Given the description of an element on the screen output the (x, y) to click on. 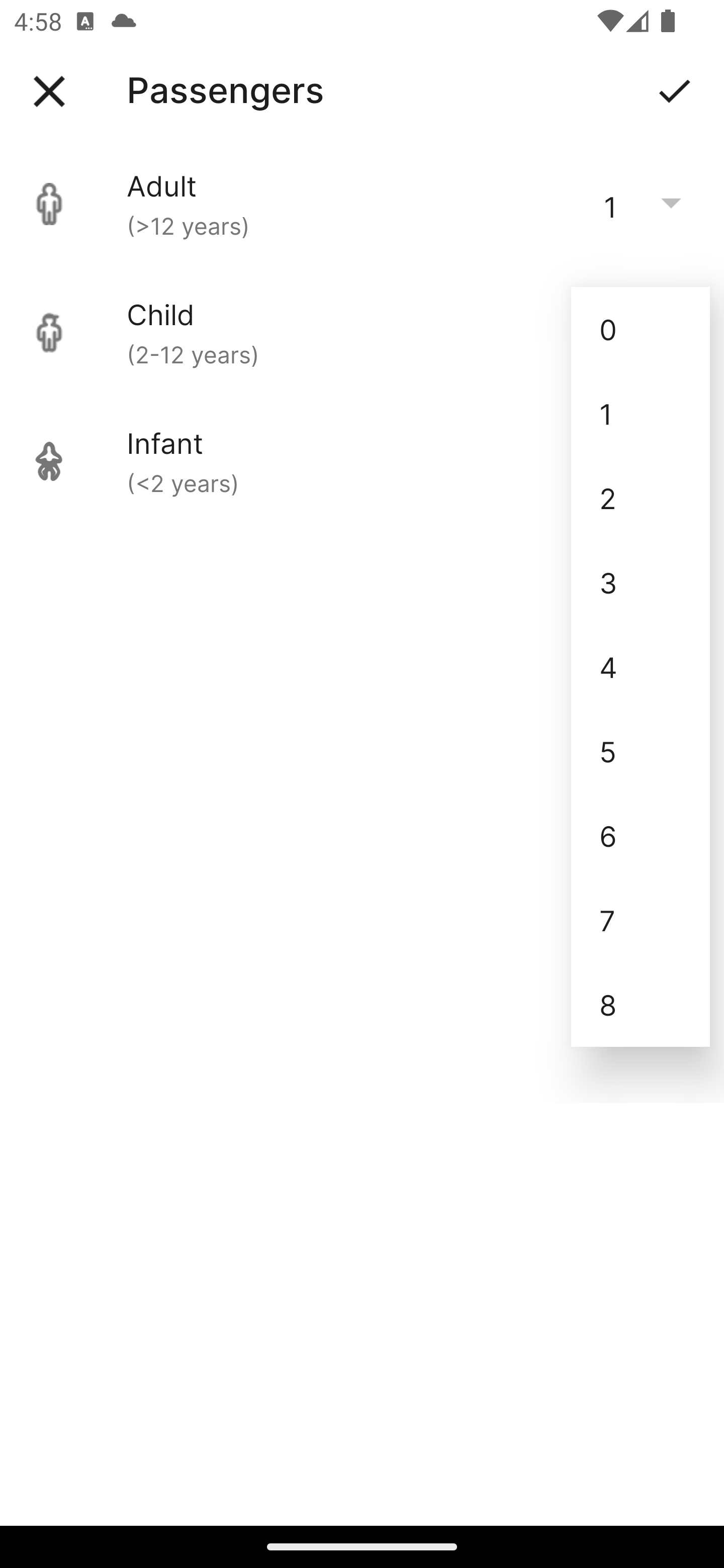
0 (640, 328)
1 (640, 413)
2 (640, 498)
3 (640, 582)
4 (640, 666)
5 (640, 750)
6 (640, 835)
7 (640, 920)
8 (640, 1004)
